Given the description of an element on the screen output the (x, y) to click on. 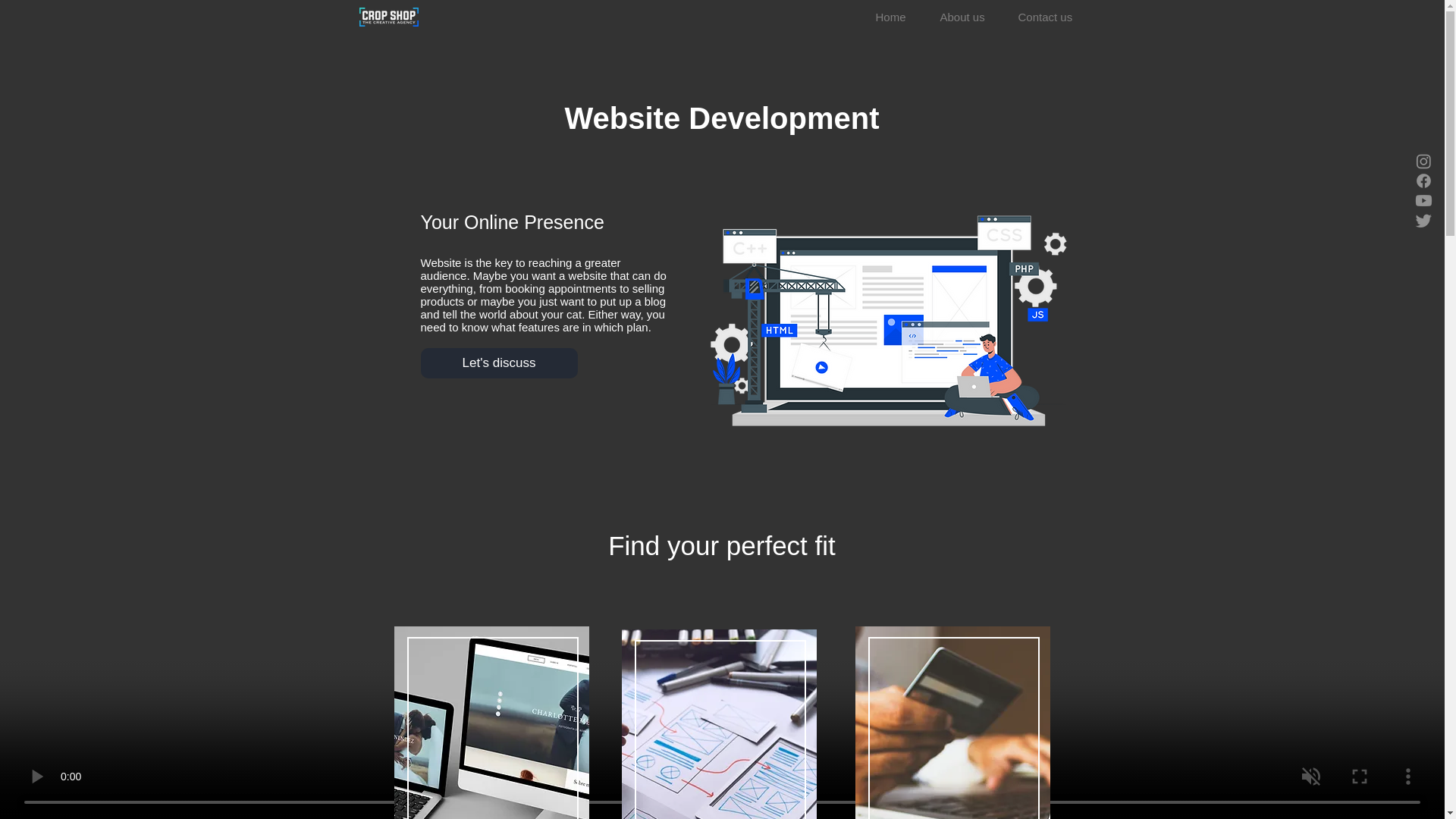
Contact us (1050, 17)
Let's discuss (498, 363)
Website Development (887, 321)
Crop Shop - The Creative Agency Logo (389, 16)
Home (896, 17)
About us (967, 17)
